Given the description of an element on the screen output the (x, y) to click on. 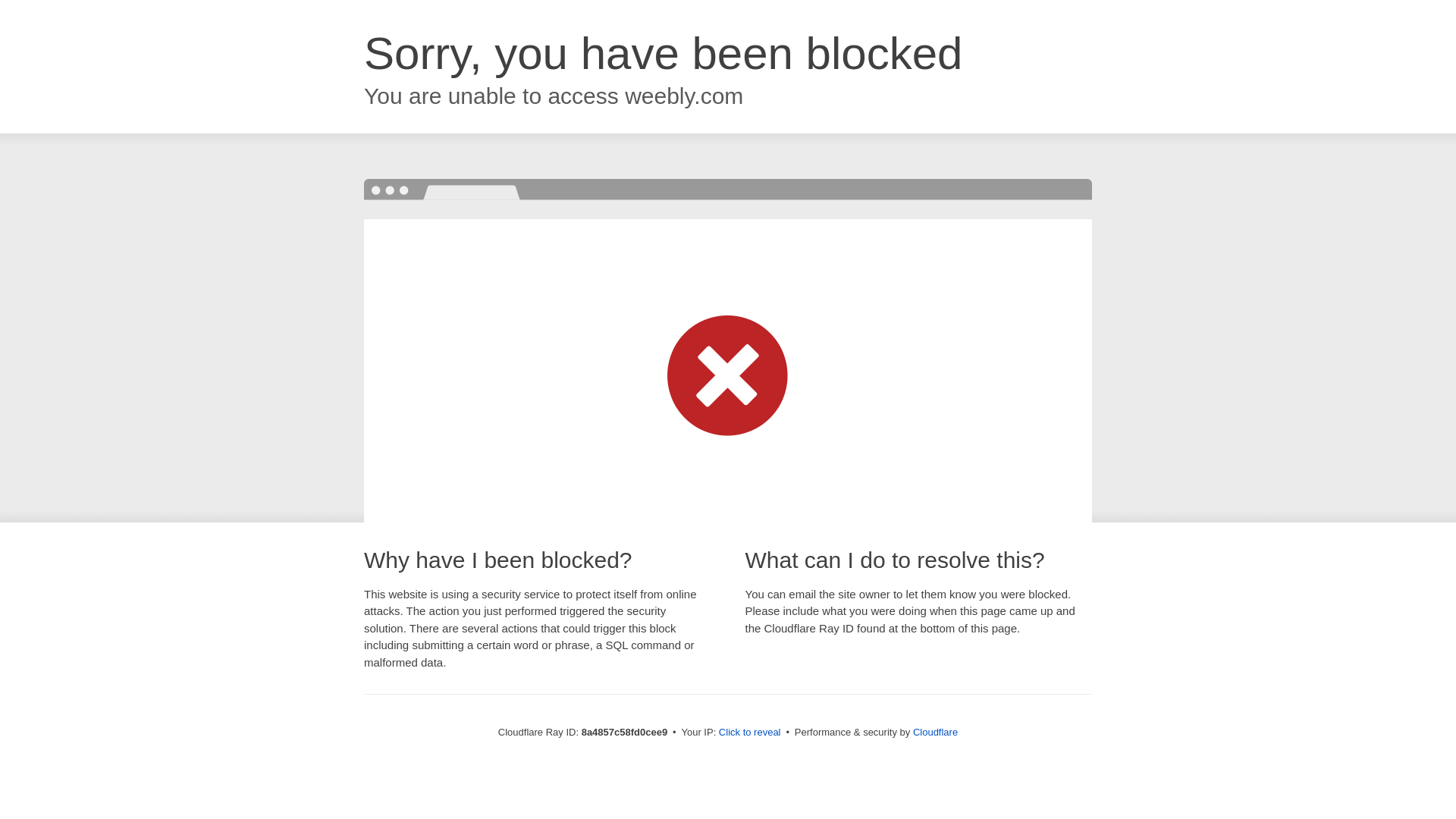
Click to reveal (749, 732)
Cloudflare (935, 731)
